Given the description of an element on the screen output the (x, y) to click on. 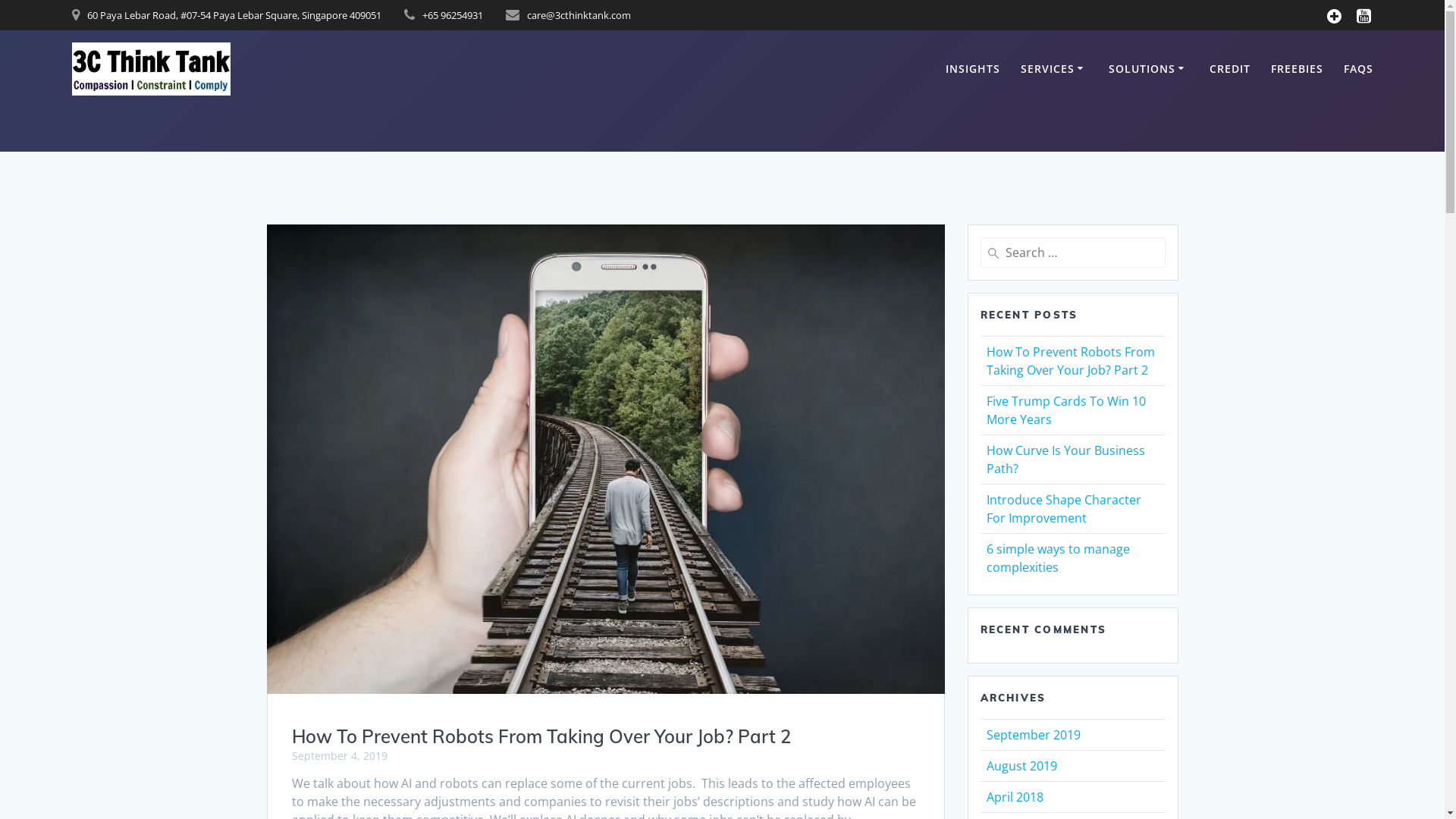
FREEBIES Element type: text (1296, 68)
6 simple ways to manage complexities Element type: text (1057, 557)
SERVICES Element type: text (1054, 68)
How To Prevent Robots From Taking Over Your Job? Part 2 Element type: text (540, 735)
April 2018 Element type: text (1013, 796)
September 2019 Element type: text (1032, 734)
INSIGHTS Element type: text (972, 68)
CREDIT Element type: text (1229, 68)
How Curve Is Your Business Path? Element type: text (1064, 459)
FAQS Element type: text (1358, 68)
Five Trump Cards To Win 10 More Years Element type: text (1065, 409)
August 2019 Element type: text (1020, 765)
SOLUTIONS Element type: text (1148, 68)
Introduce Shape Character For Improvement Element type: text (1062, 508)
How To Prevent Robots From Taking Over Your Job? Part 2 Element type: text (1069, 360)
